Given the description of an element on the screen output the (x, y) to click on. 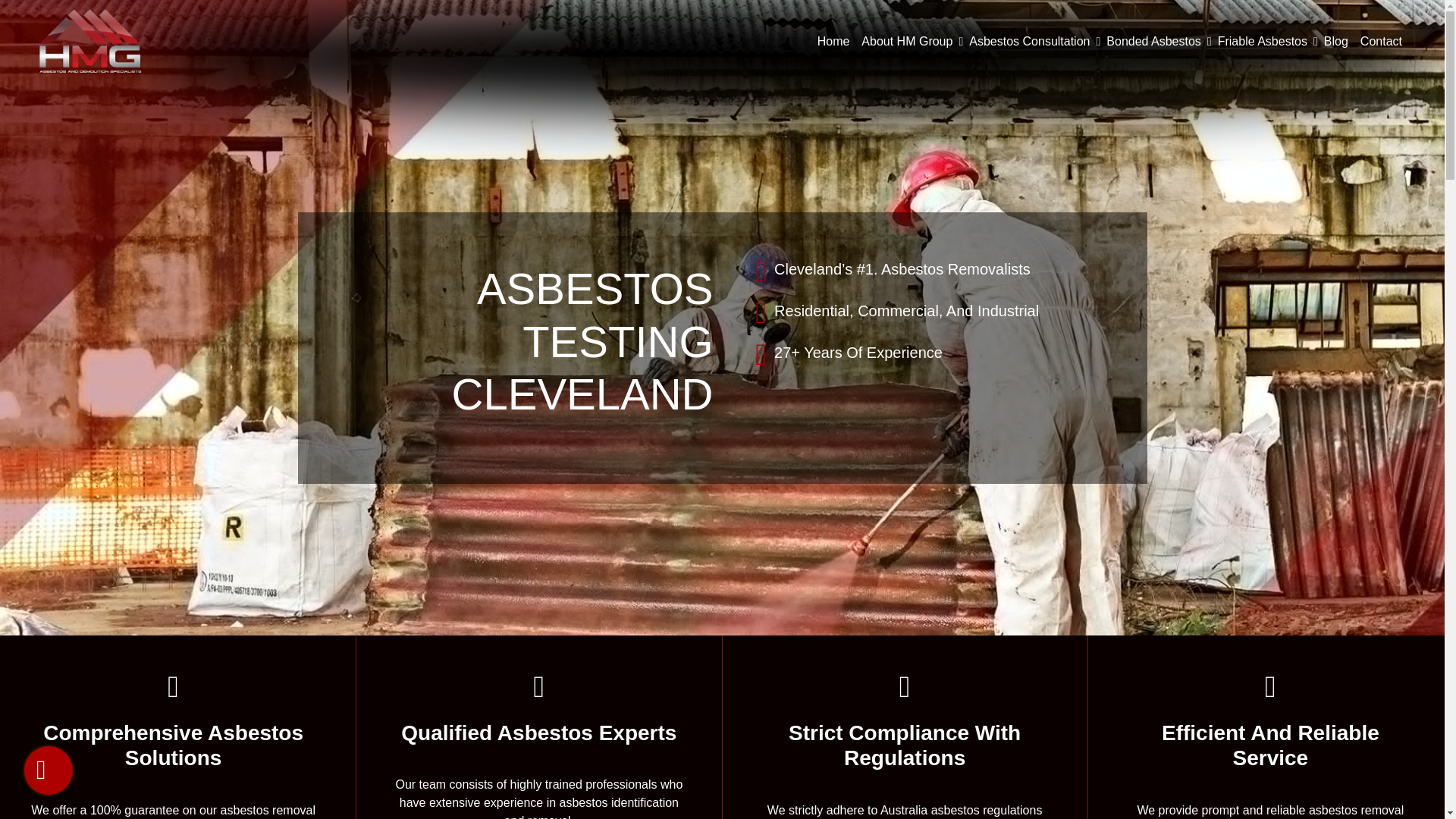
About HM Group (907, 41)
Contact (1380, 41)
Asbestos Consultation (1029, 41)
Friable Asbestos (1262, 41)
Bonded Asbestos (1153, 41)
Blog (1335, 41)
Home (833, 41)
